Given the description of an element on the screen output the (x, y) to click on. 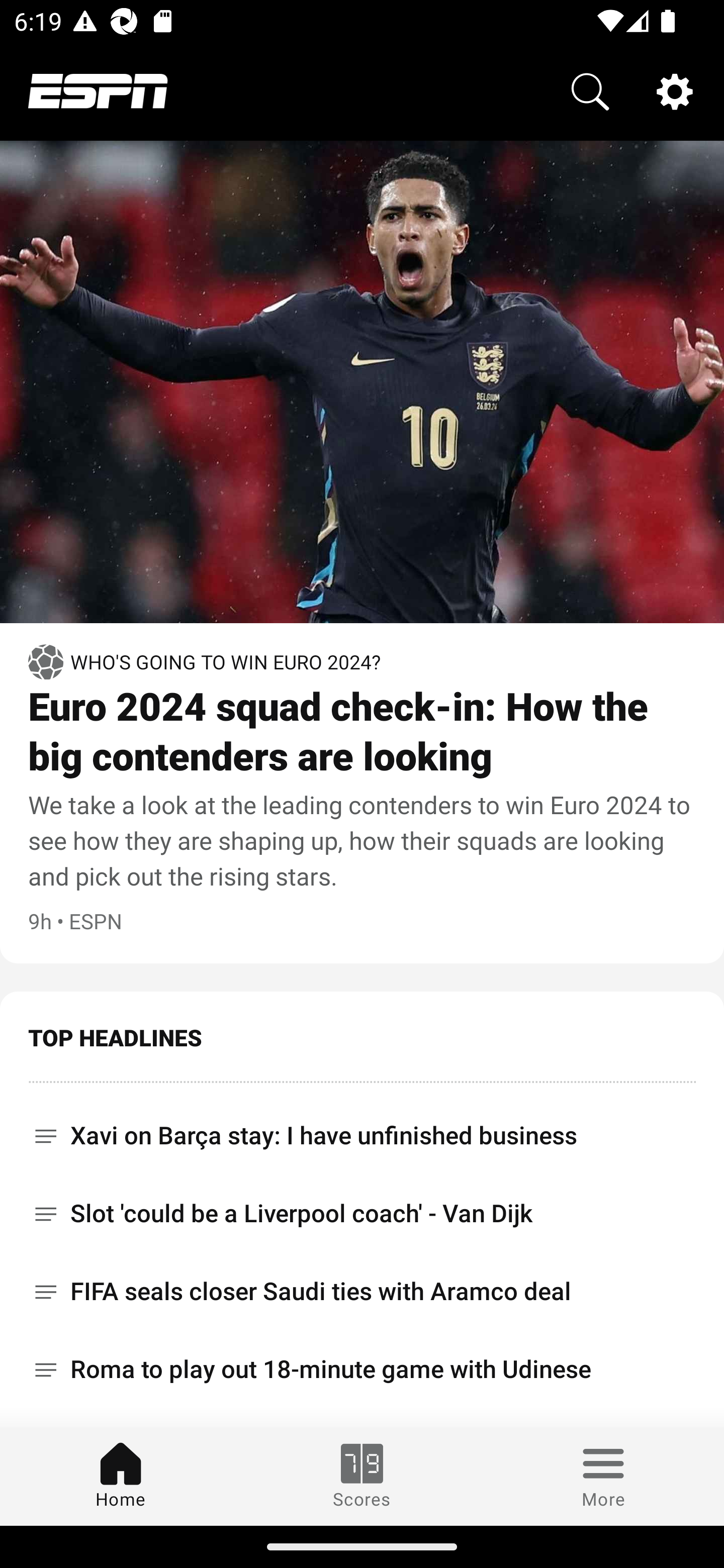
Search (590, 90)
Settings (674, 90)
 Xavi on Barça stay: I have unfinished business (362, 1128)
 Slot 'could be a Liverpool coach' - Van Dijk (362, 1213)
 FIFA seals closer Saudi ties with Aramco deal (362, 1291)
 Roma to play out 18-minute game with Udinese (362, 1369)
Scores (361, 1475)
More (603, 1475)
